Given the description of an element on the screen output the (x, y) to click on. 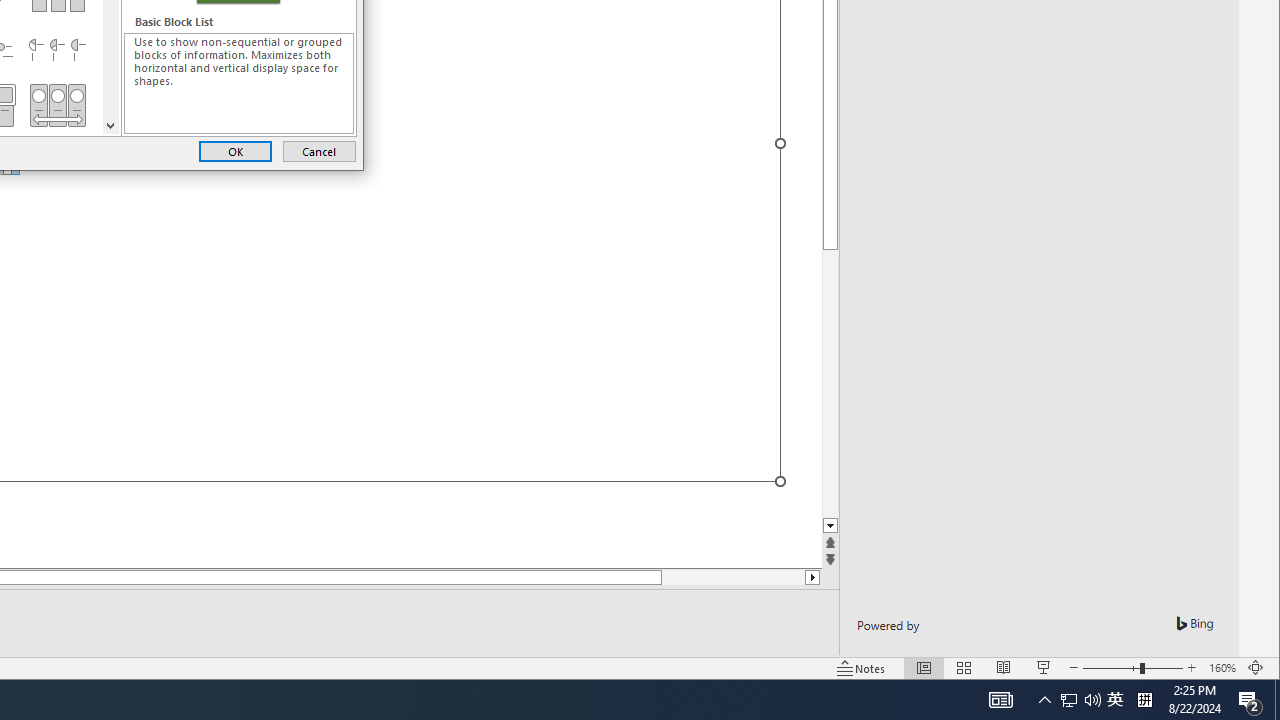
Action Center, 2 new notifications (1250, 699)
Class: NetUITextbox (239, 83)
OK (235, 150)
